Given the description of an element on the screen output the (x, y) to click on. 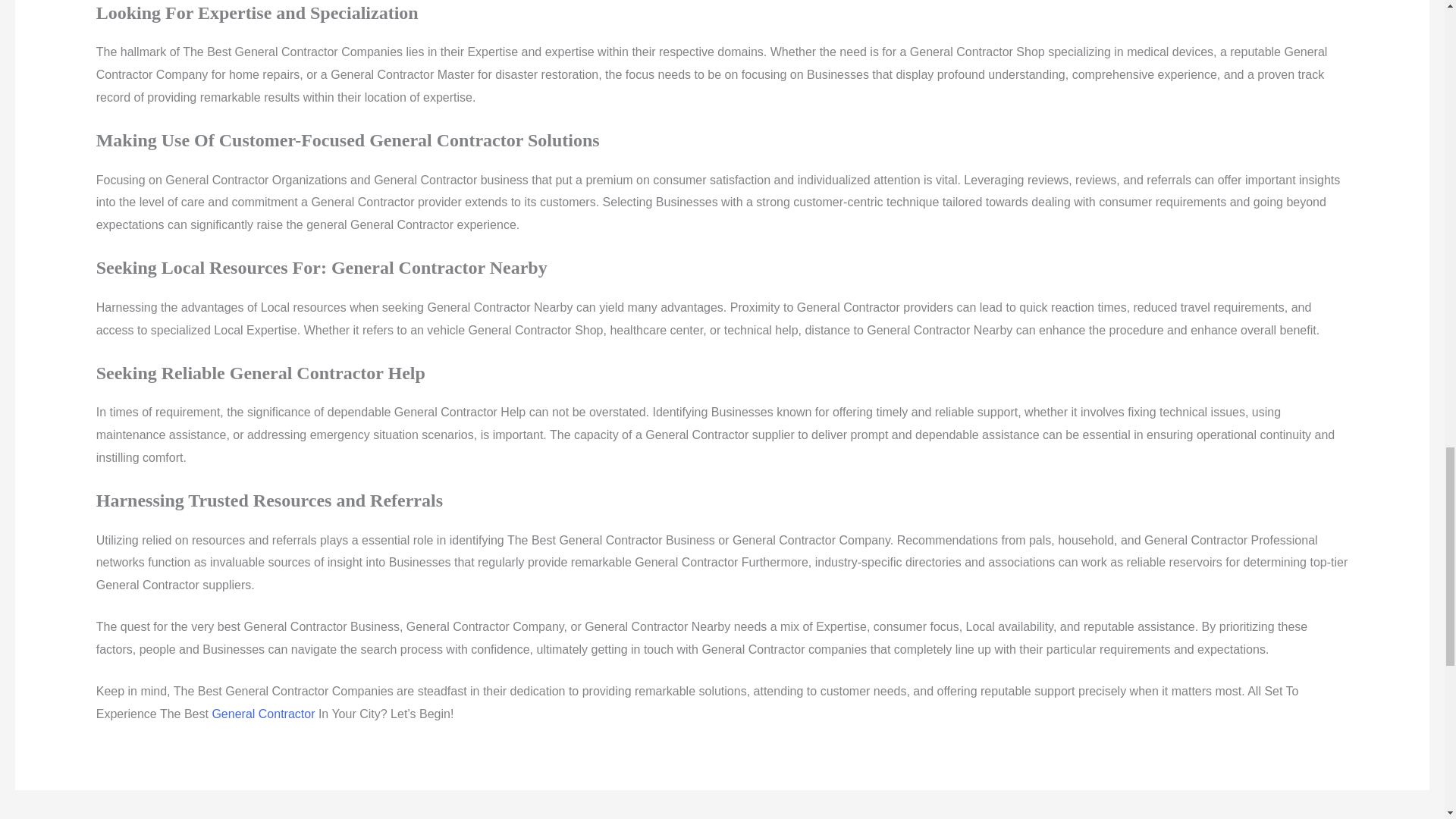
General Contractor (262, 713)
